Given the description of an element on the screen output the (x, y) to click on. 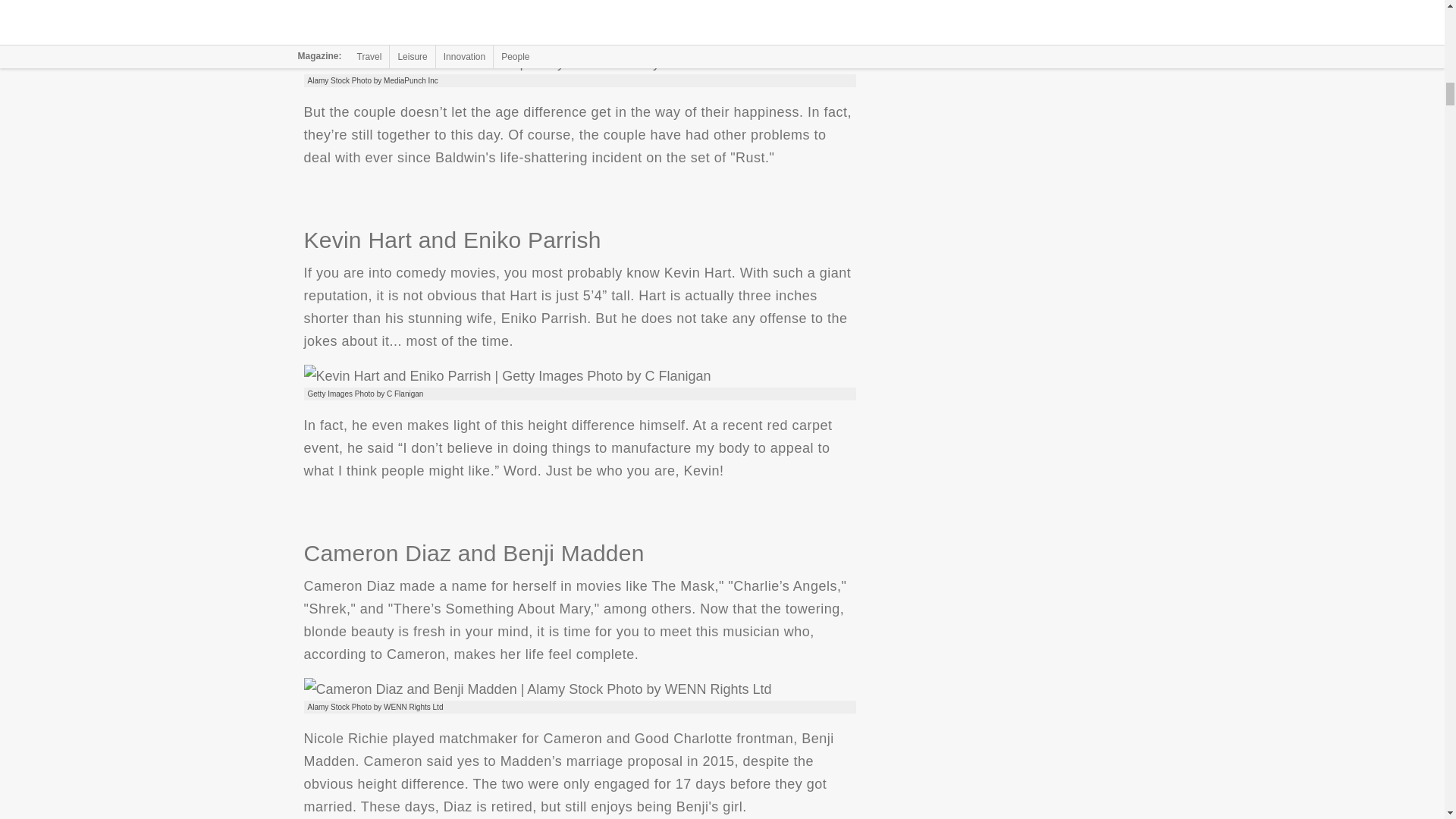
Alec Baldwin and Hilaria Thomas (531, 62)
Kevin Hart and Eniko Parrish (506, 375)
Cameron Diaz and Benji Madden (536, 689)
